Given the description of an element on the screen output the (x, y) to click on. 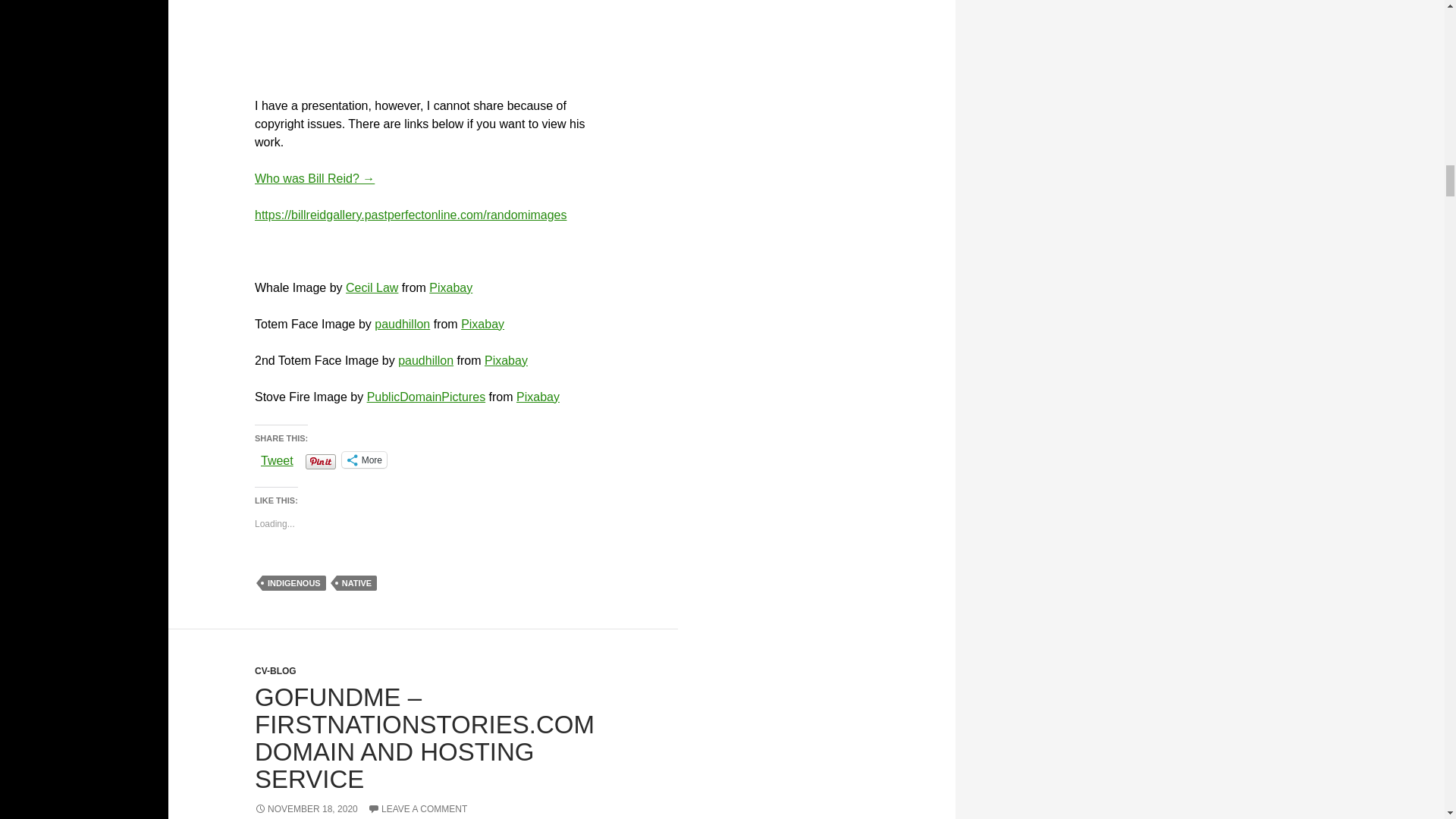
paudhillon (401, 323)
Pixabay (505, 359)
PublicDomainPictures (426, 396)
Pixabay (537, 396)
Pixabay (450, 287)
Pixabay (482, 323)
paudhillon (424, 359)
More (364, 459)
Cecil Law (371, 287)
Tweet (277, 459)
